Given the description of an element on the screen output the (x, y) to click on. 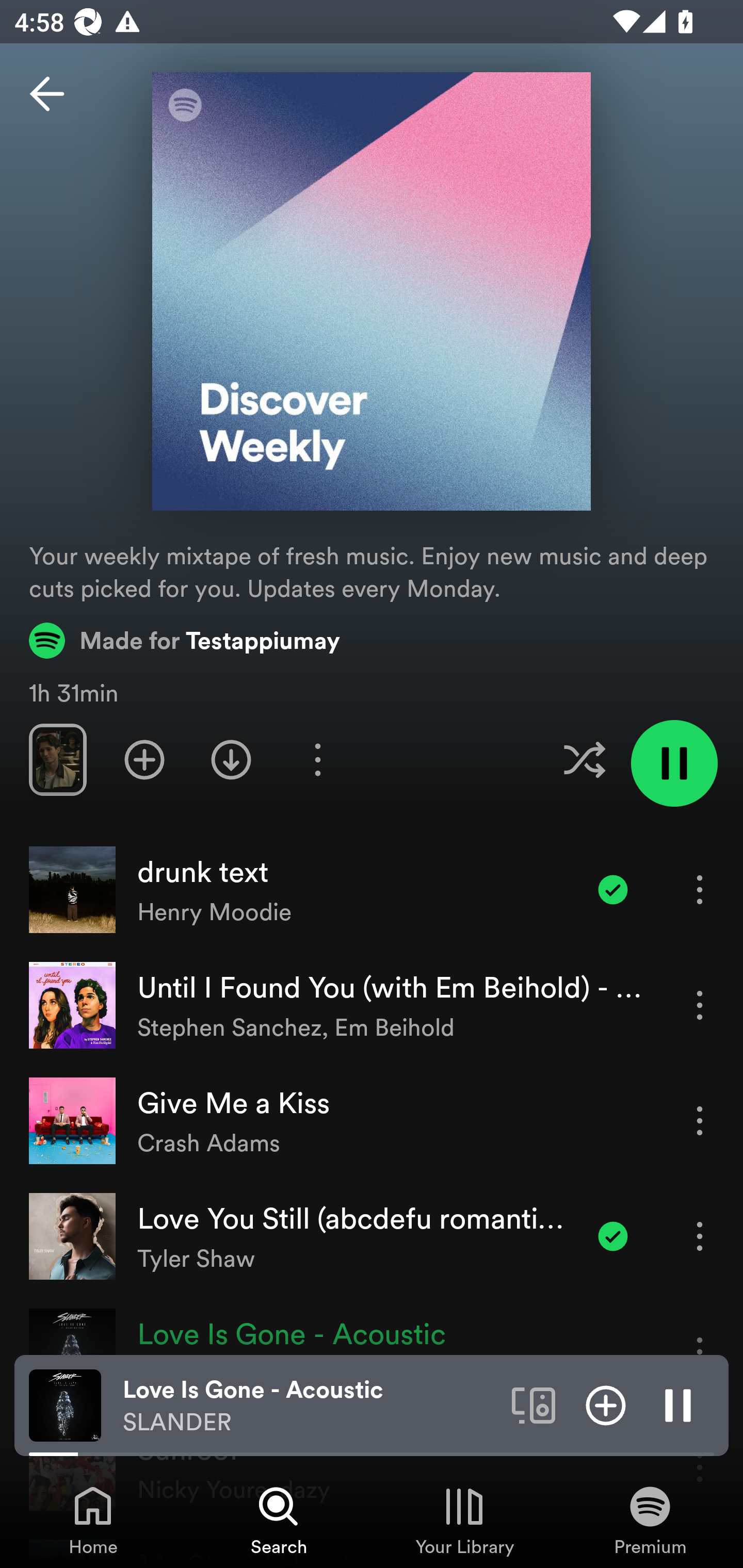
Back (46, 93)
Made for Testappiumay (184, 640)
Swipe through previews of tracks in this playlist. (57, 759)
Add playlist to Your Library (144, 759)
Download (230, 759)
More options for playlist Discover Weekly (317, 759)
Enable shuffle for this playlist (583, 759)
Pause playlist (674, 763)
Item added (612, 889)
More options for song drunk text (699, 889)
More options for song Give Me a Kiss (699, 1120)
Item added (612, 1236)
Love Is Gone - Acoustic SLANDER (309, 1405)
The cover art of the currently playing track (64, 1404)
Connect to a device. Opens the devices menu (533, 1404)
Add item (605, 1404)
Pause (677, 1404)
Home, Tab 1 of 4 Home Home (92, 1519)
Search, Tab 2 of 4 Search Search (278, 1519)
Your Library, Tab 3 of 4 Your Library Your Library (464, 1519)
Premium, Tab 4 of 4 Premium Premium (650, 1519)
